Given the description of an element on the screen output the (x, y) to click on. 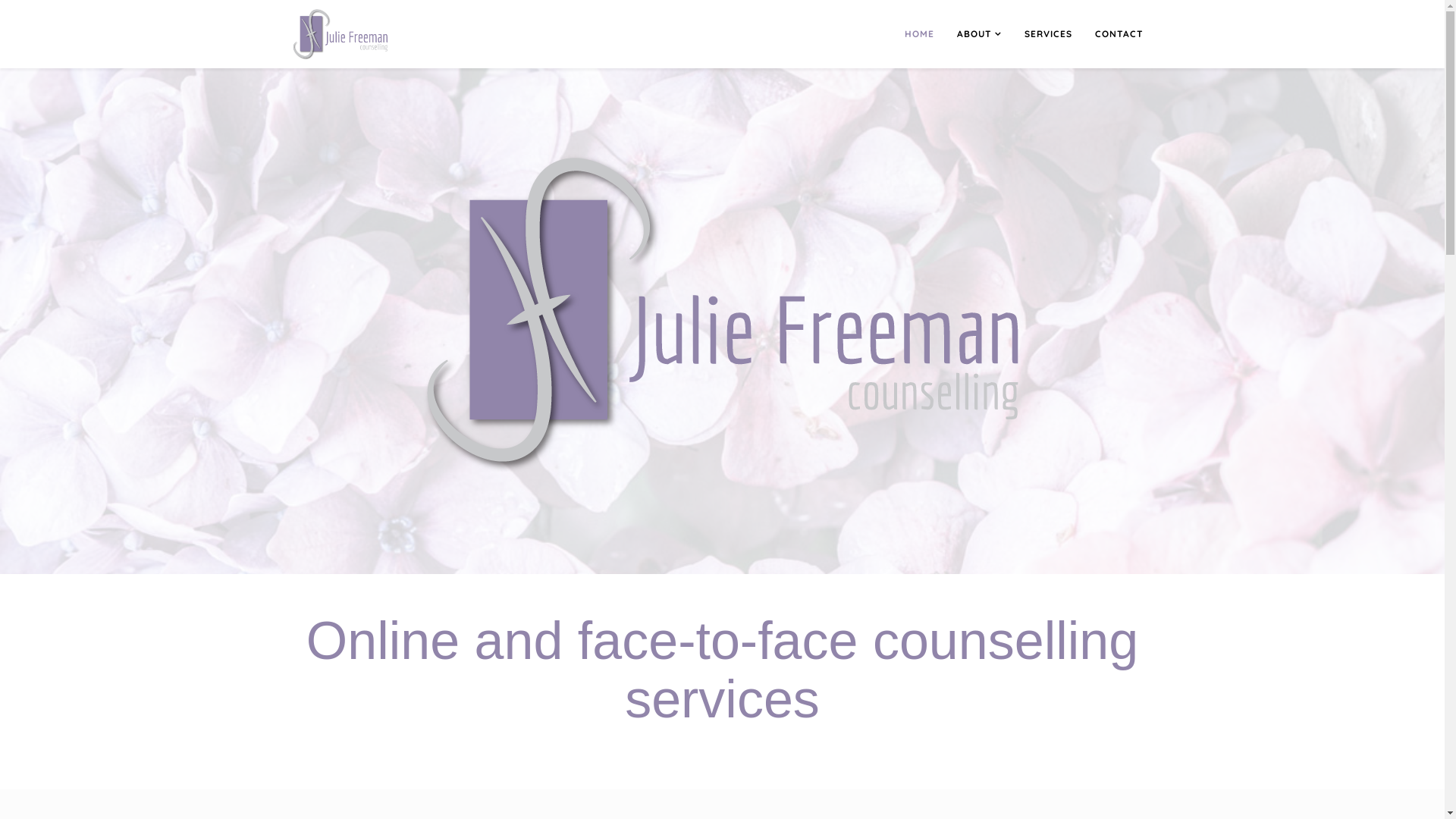
SERVICES Element type: text (1048, 34)
ABOUT Element type: text (978, 34)
HOME Element type: text (919, 34)
CONTACT Element type: text (1118, 34)
